Given the description of an element on the screen output the (x, y) to click on. 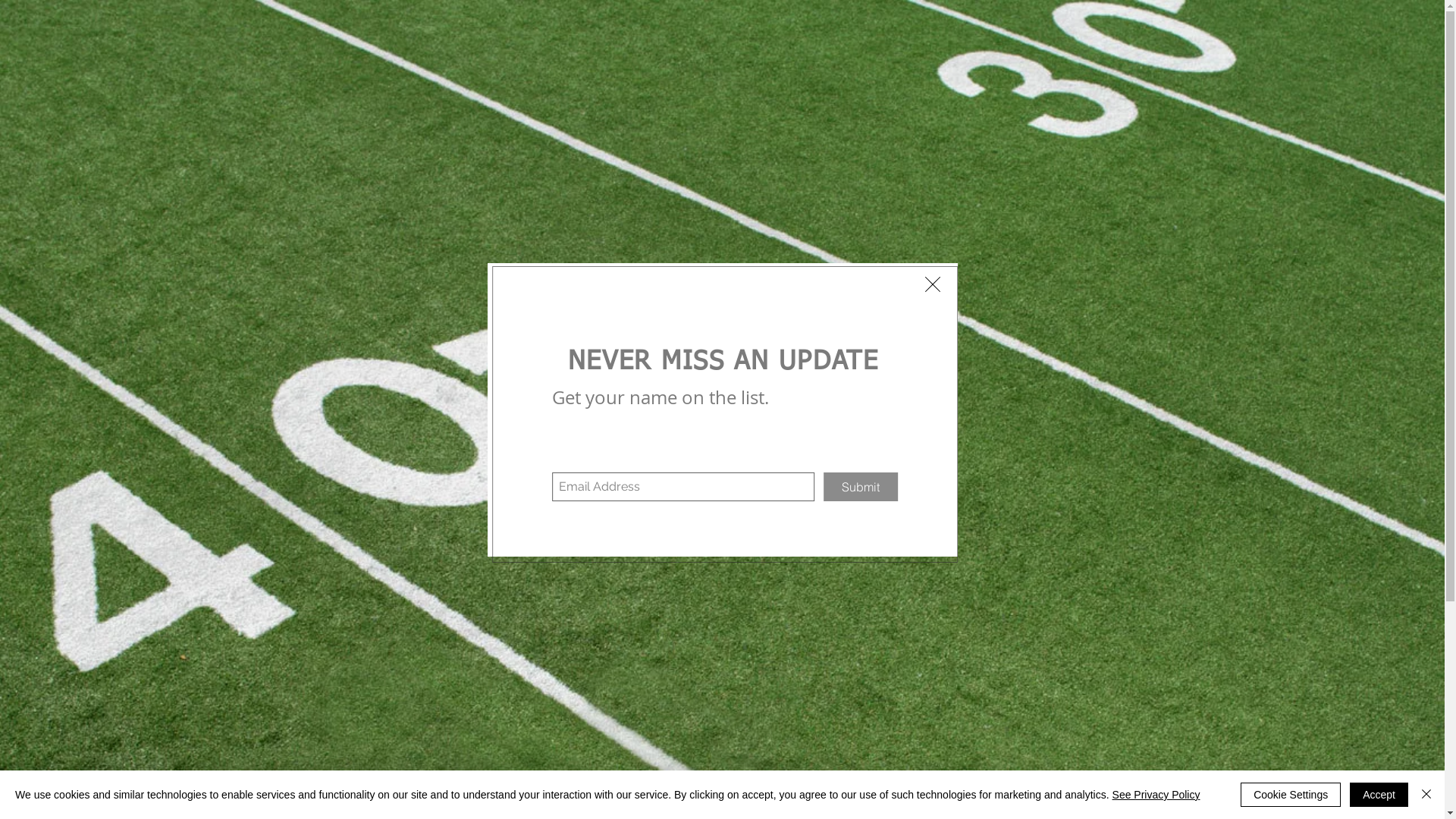
See Privacy Policy Element type: text (1156, 794)
Google Maps Element type: hover (715, 671)
ABOUT Element type: text (940, 148)
Site Search Element type: hover (1181, 108)
Submit Element type: text (883, 485)
Cookie Settings Element type: text (1290, 794)
3 Point Stance Element type: text (756, 39)
Football Greats Element type: text (648, 148)
Subscribe Now Element type: text (705, 465)
Exercises + Essentials Element type: text (804, 148)
Accept Element type: text (1378, 794)
JOIN US Element type: text (1042, 148)
Football Blogs Element type: text (511, 148)
HOME Element type: text (397, 148)
Back to site Element type: hover (932, 283)
